Given the description of an element on the screen output the (x, y) to click on. 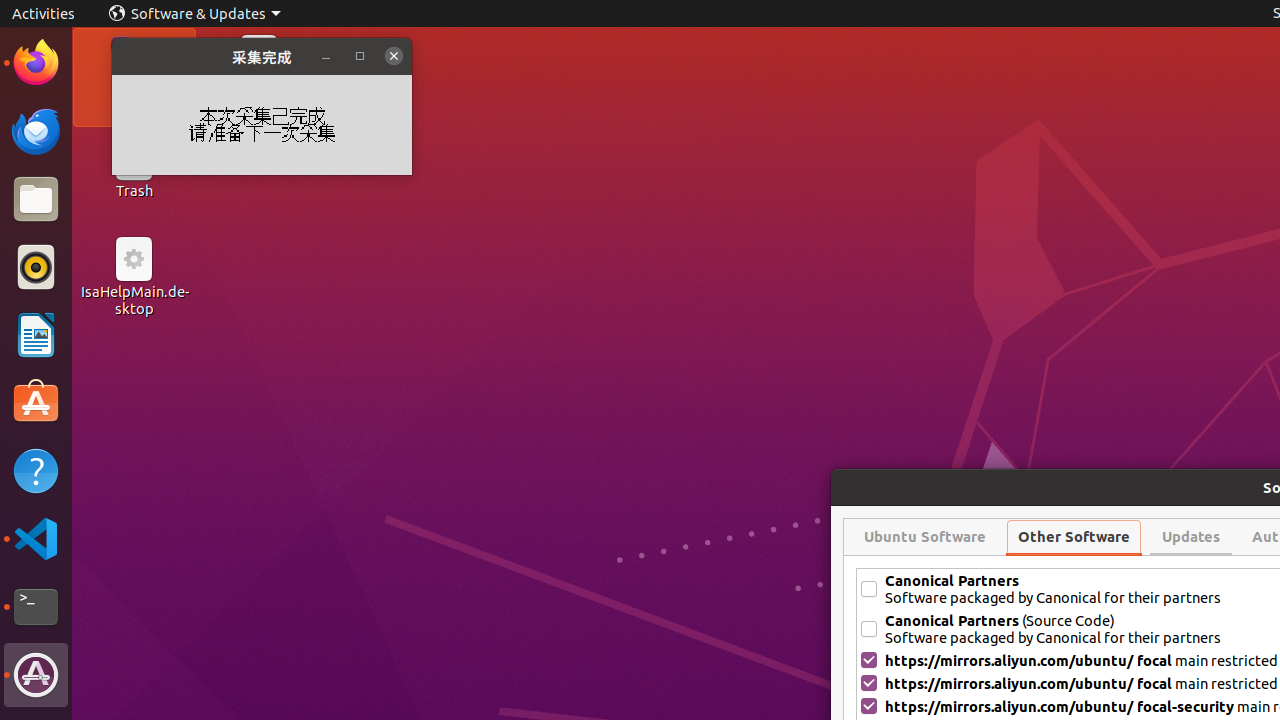
Terminal Element type: push-button (36, 607)
Trash Element type: label (133, 191)
